Given the description of an element on the screen output the (x, y) to click on. 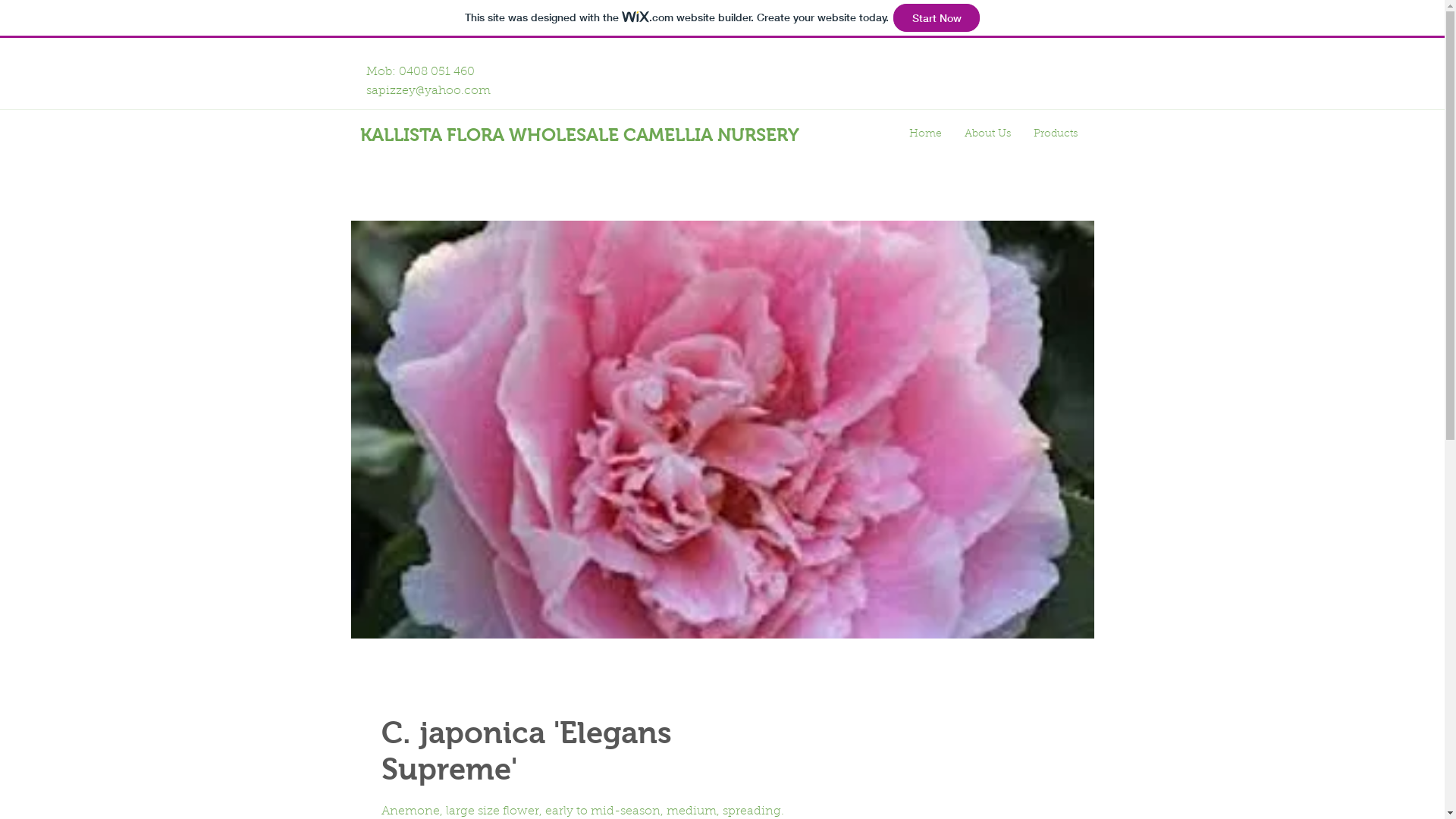
sapizzey@yahoo.com Element type: text (427, 90)
Home Element type: text (925, 134)
Products Element type: text (1055, 134)
About Us Element type: text (986, 134)
